Given the description of an element on the screen output the (x, y) to click on. 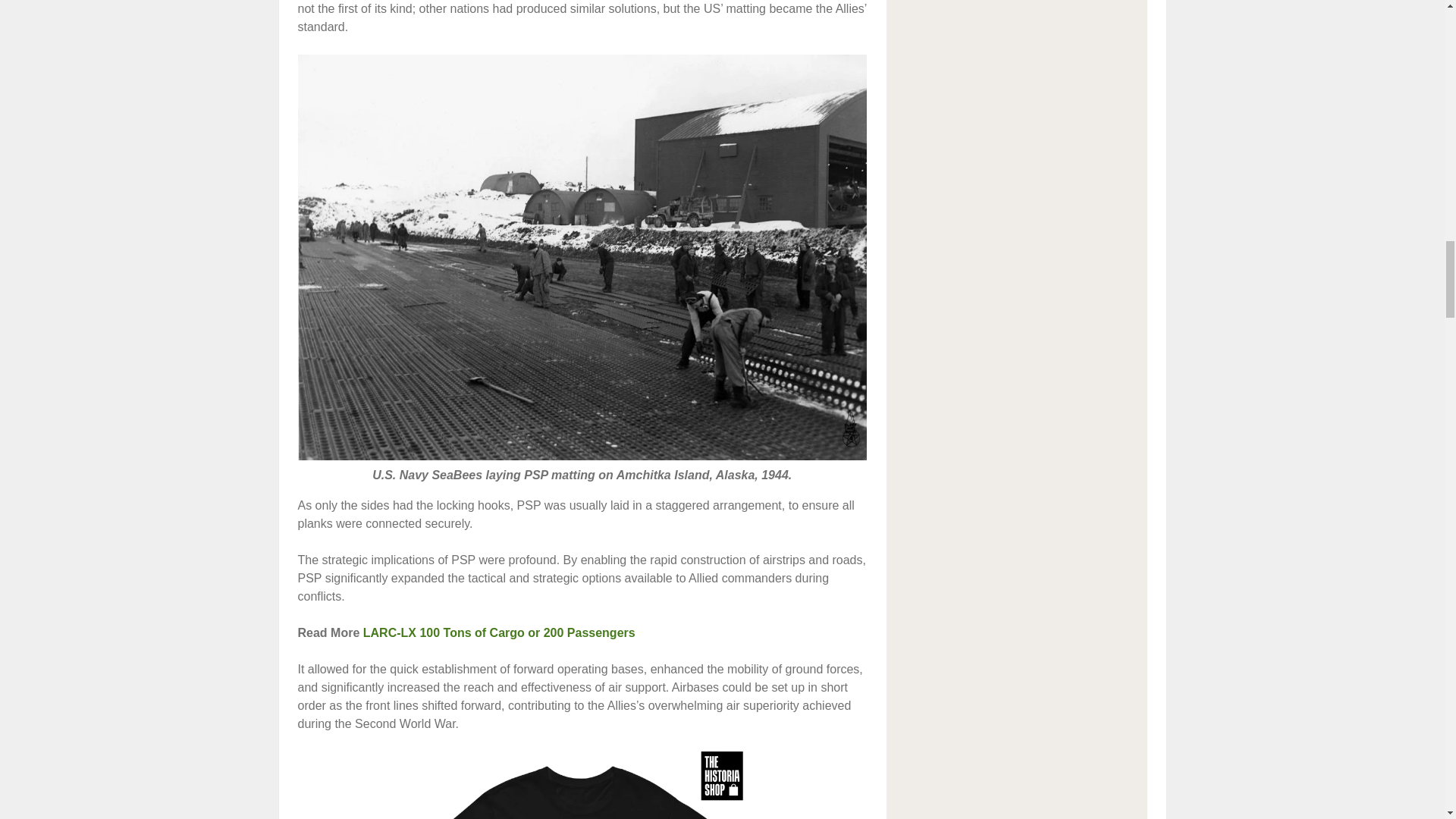
LARC-LX 100 Tons of Cargo or 200 Passengers (498, 632)
